Given the description of an element on the screen output the (x, y) to click on. 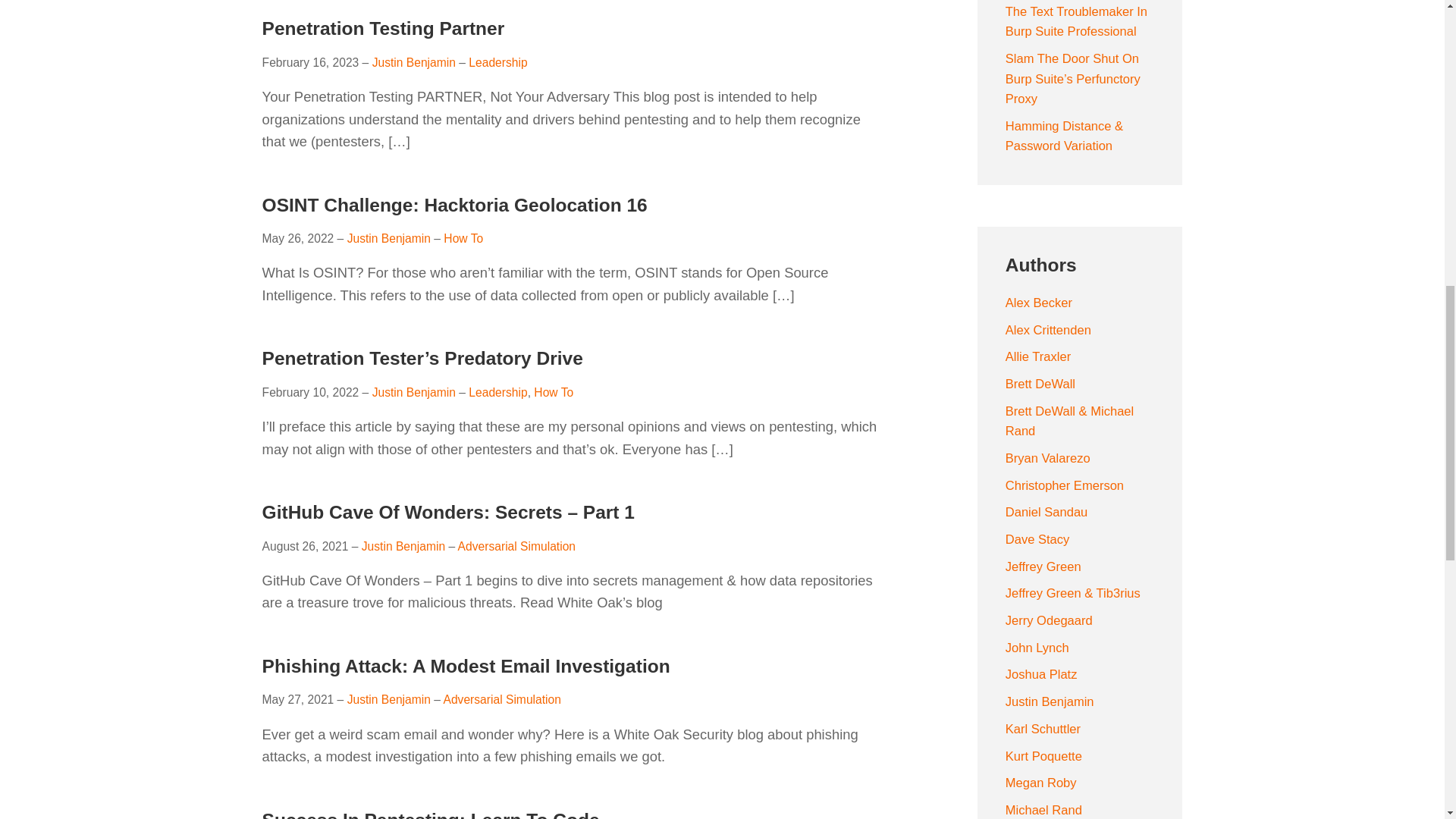
Posts by Brett DeWall (1040, 383)
Posts by Karl Schuttler (1043, 728)
Posts by Christopher Emerson (1065, 485)
Posts by Jerry Odegaard (1049, 620)
Posts by Dave Stacy (1038, 539)
Posts by John Lynch (1037, 647)
Posts by Joshua Platz (1041, 674)
Posts by Justin Benjamin (1050, 701)
Posts by Alex Becker (1038, 302)
Posts by Daniel Sandau (1046, 512)
